Given the description of an element on the screen output the (x, y) to click on. 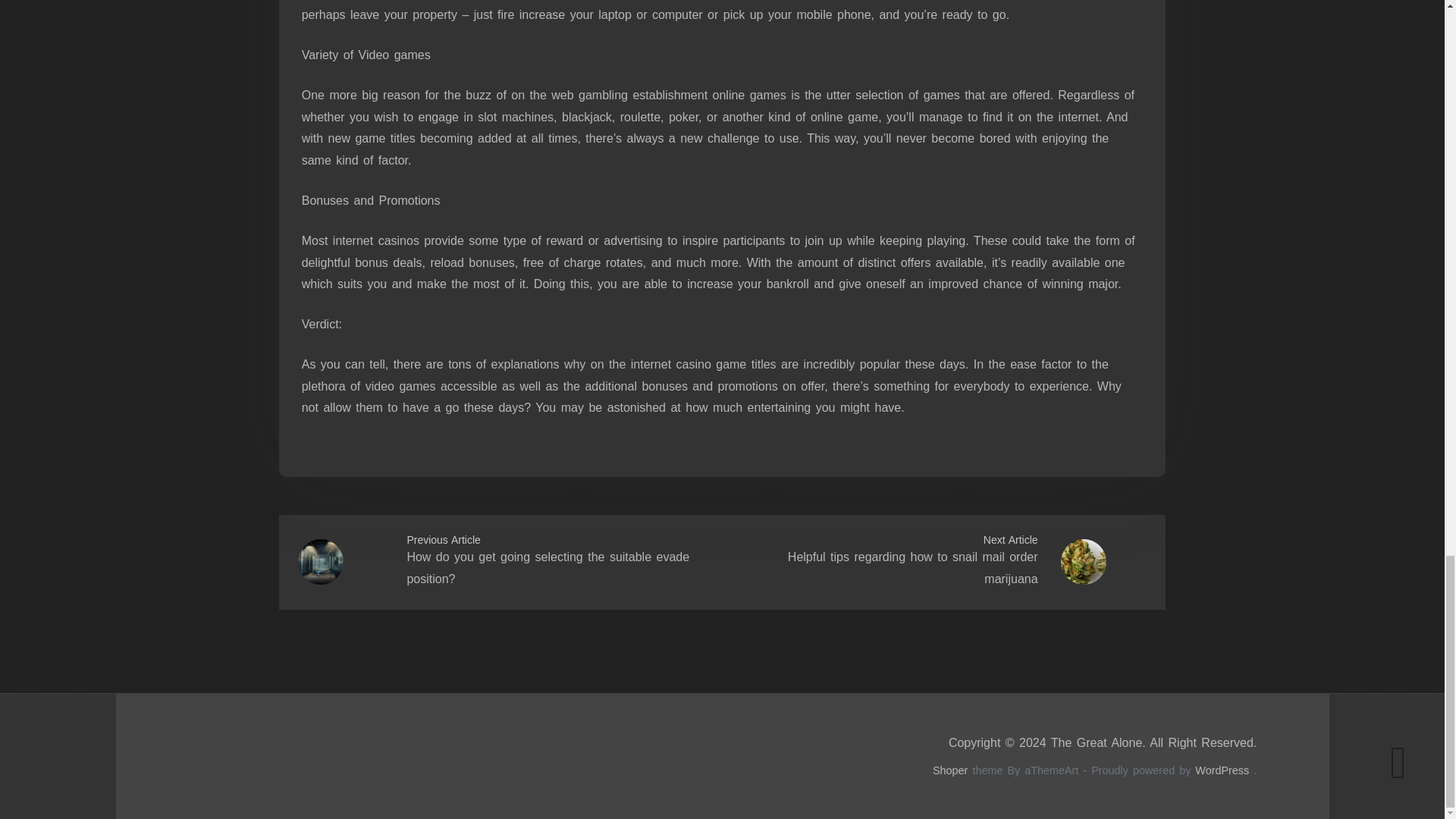
Helpful tips regarding how to snail mail order marijuana (912, 567)
WordPress (1222, 770)
How do you get going selecting the suitable evade position? (547, 567)
Shoper (950, 770)
